Given the description of an element on the screen output the (x, y) to click on. 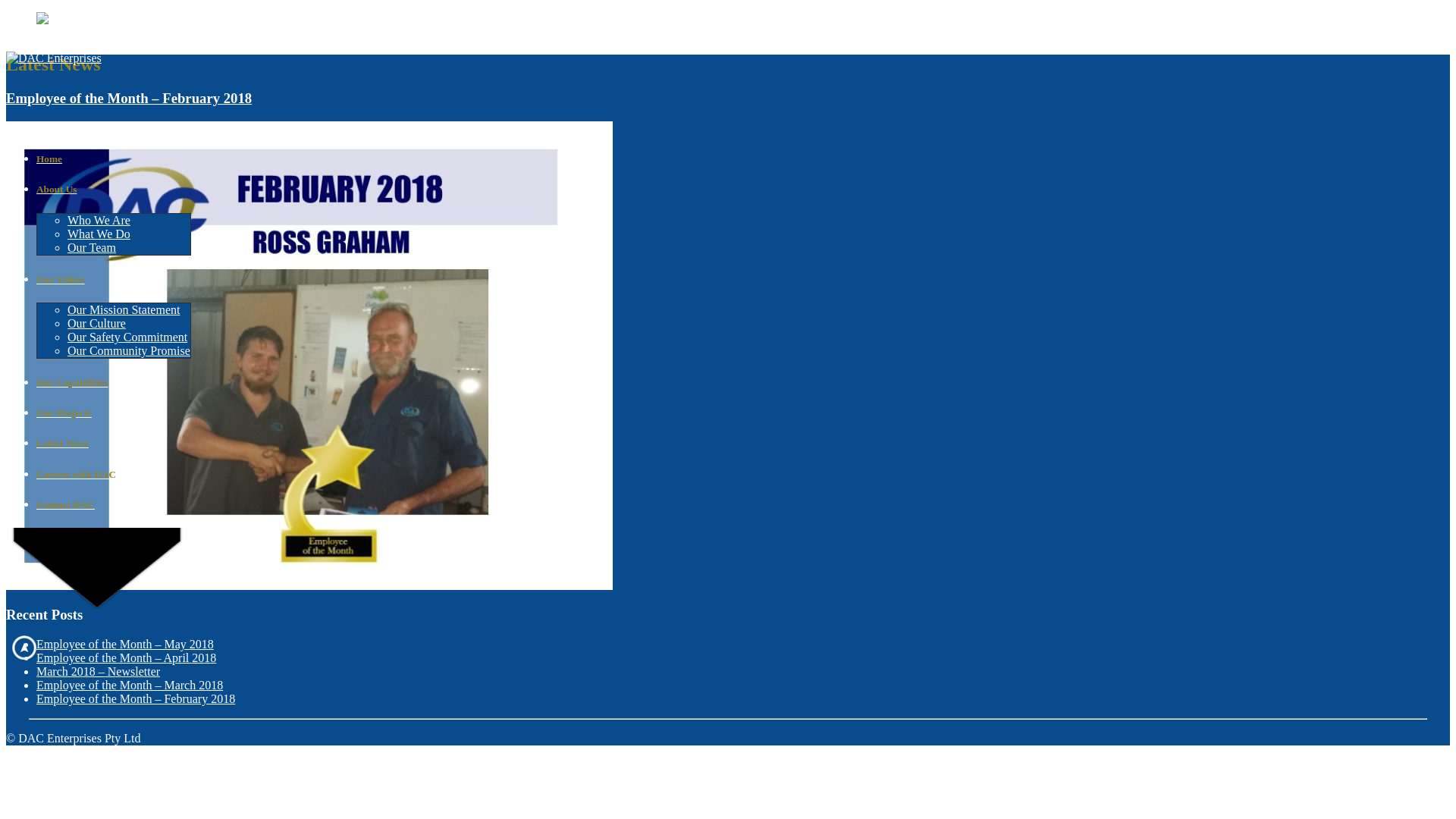
Our Community Promise Element type: text (128, 350)
Our Capabilities Element type: text (113, 382)
Our Values Element type: text (113, 279)
Latest News Element type: text (113, 443)
Contact DAC Element type: text (113, 504)
Our Mission Statement Element type: text (123, 309)
Our Team Element type: text (91, 247)
About Us Element type: text (113, 189)
DAC Enterprises Element type: hover (53, 58)
What We Do Element type: text (98, 233)
Our Projects Element type: text (113, 413)
Hide the navigation Element type: hover (24, 647)
Our Safety Commitment Element type: text (127, 336)
Home Element type: text (113, 159)
Who We Are Element type: text (98, 219)
Careers with DAC Element type: text (113, 474)
Our Culture Element type: text (96, 322)
